Given the description of an element on the screen output the (x, y) to click on. 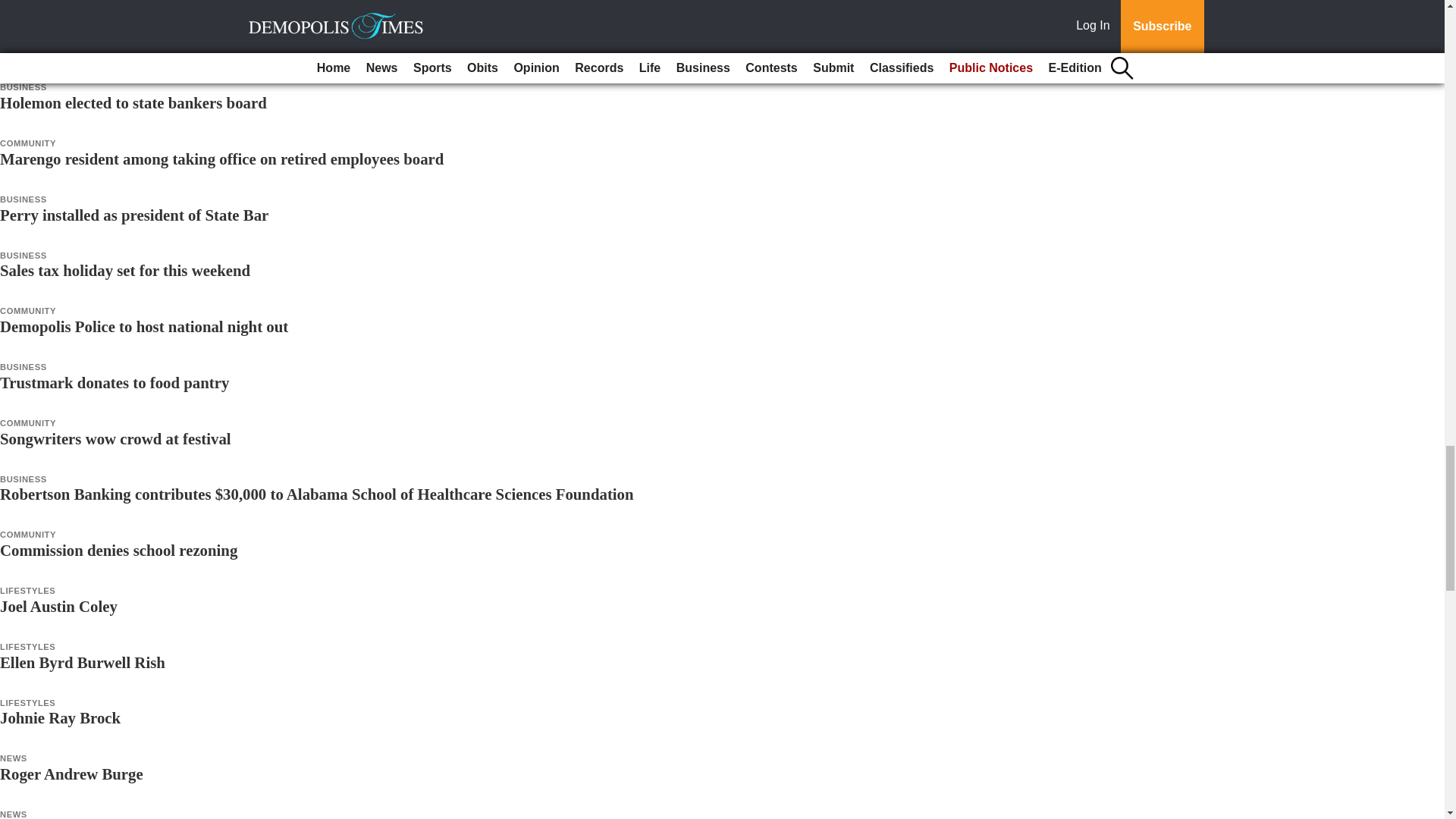
Sales tax holiday set for this weekend (125, 270)
Sales tax holiday set for this weekend (125, 270)
Demopolis Police to host national night out (144, 325)
Ellen Byrd Burwell Rish (82, 661)
Joel Austin Coley (58, 606)
Demopolis Police to host national night out (144, 325)
Trustmark donates to food pantry (114, 382)
Holemon elected to state bankers board (133, 102)
Perry installed as president of State Bar (133, 214)
Johnie Ray Brock (60, 717)
Perry installed as president of State Bar (133, 214)
